Given the description of an element on the screen output the (x, y) to click on. 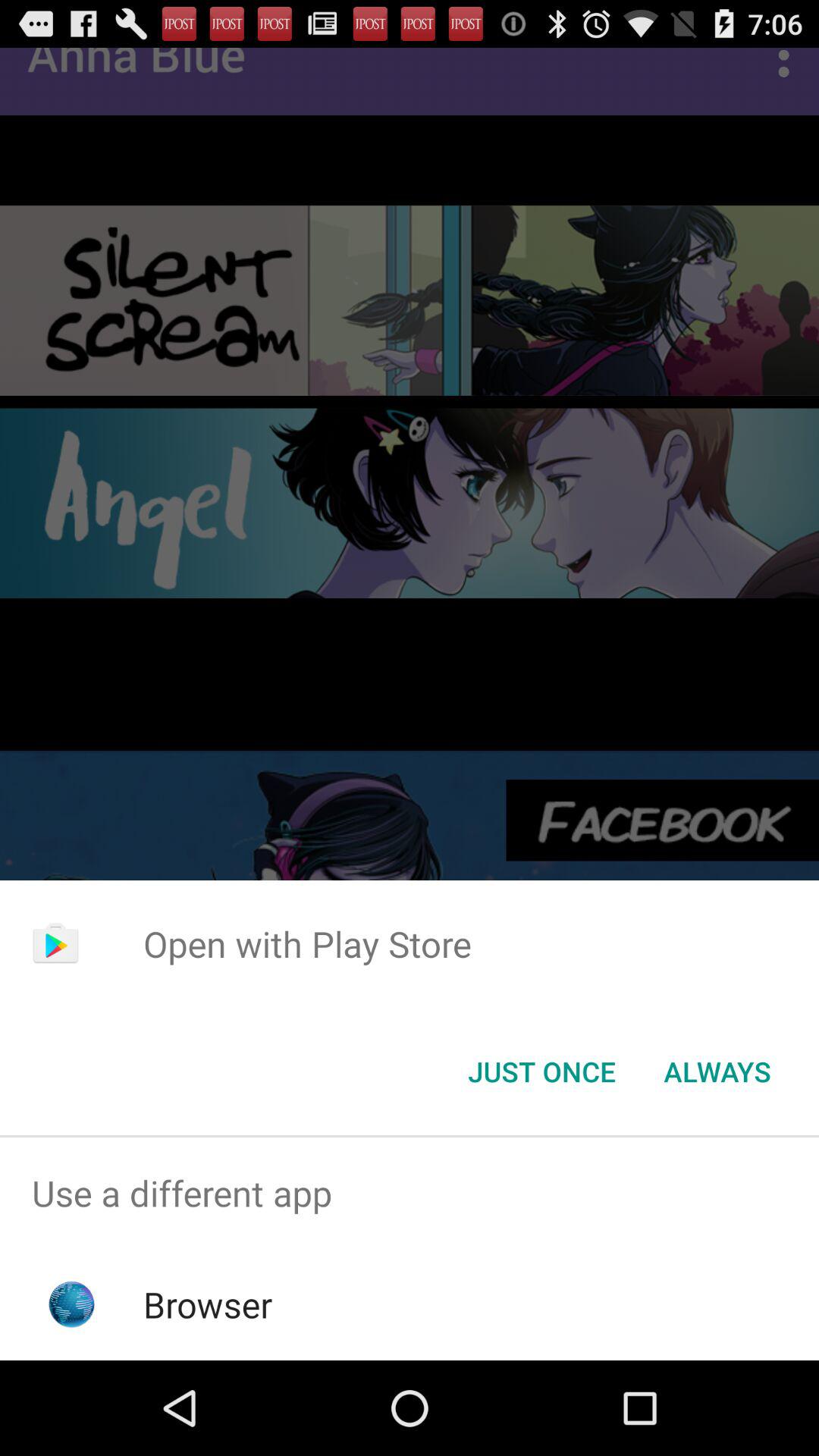
tap item to the left of the always (541, 1071)
